Given the description of an element on the screen output the (x, y) to click on. 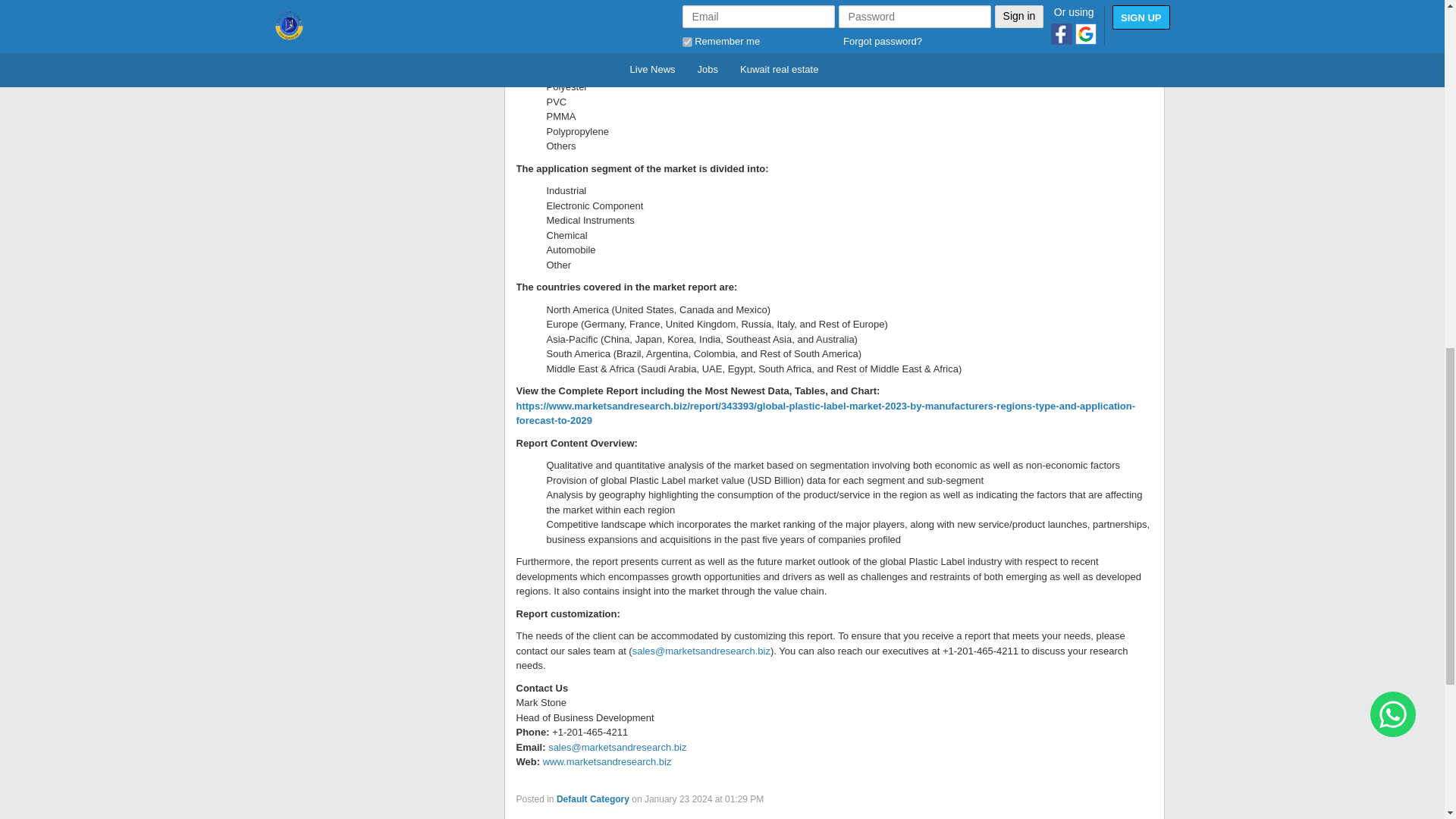
www.marketsandresearch.biz (607, 761)
Default Category (592, 798)
